Given the description of an element on the screen output the (x, y) to click on. 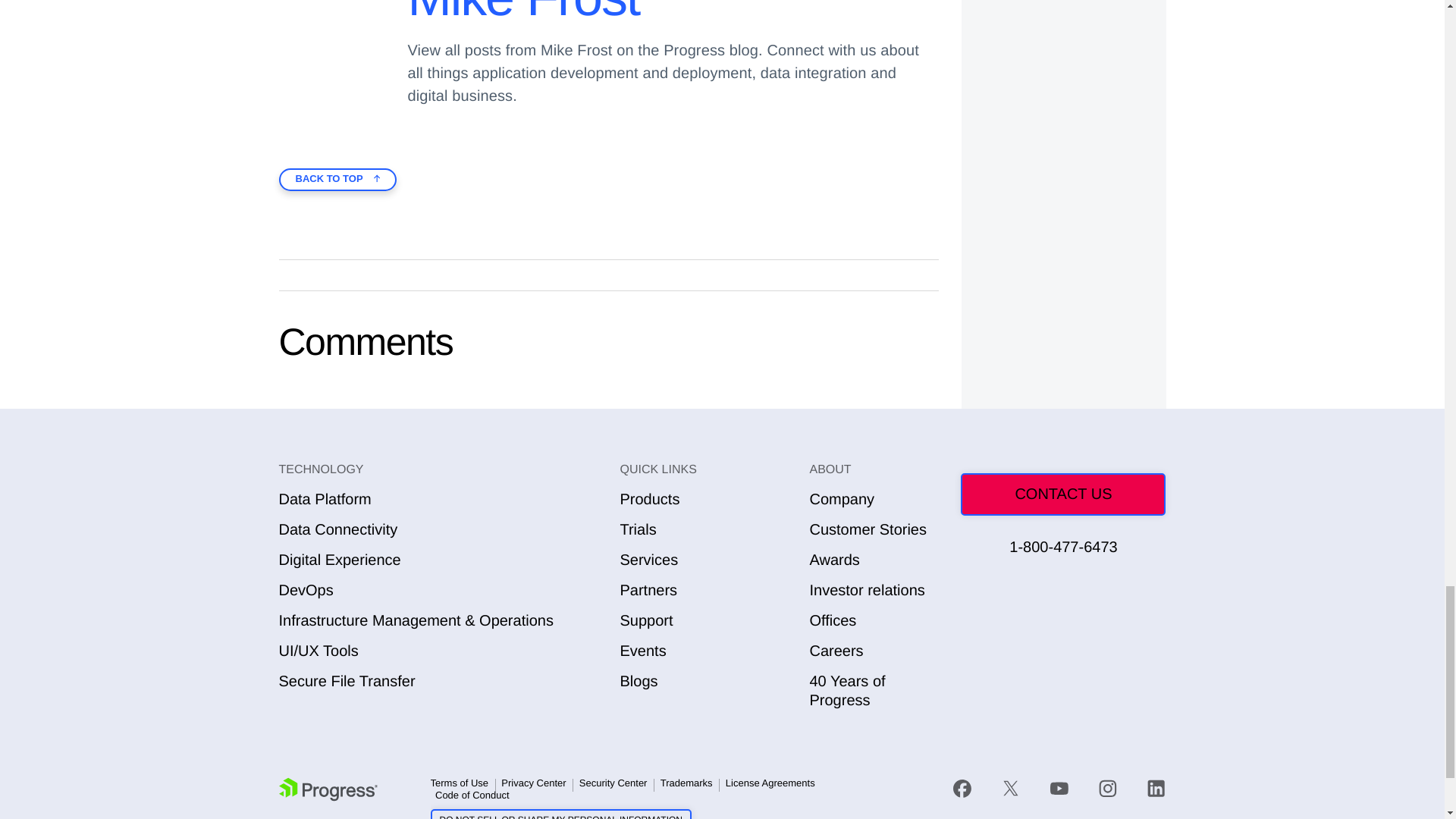
instagram (1107, 788)
X (1010, 788)
LinkedIn (1156, 788)
facebook (970, 788)
Facebook (962, 788)
Instagram (1107, 788)
Progress (328, 789)
YouTube (1058, 788)
X (1011, 788)
youtube (1059, 788)
